Given the description of an element on the screen output the (x, y) to click on. 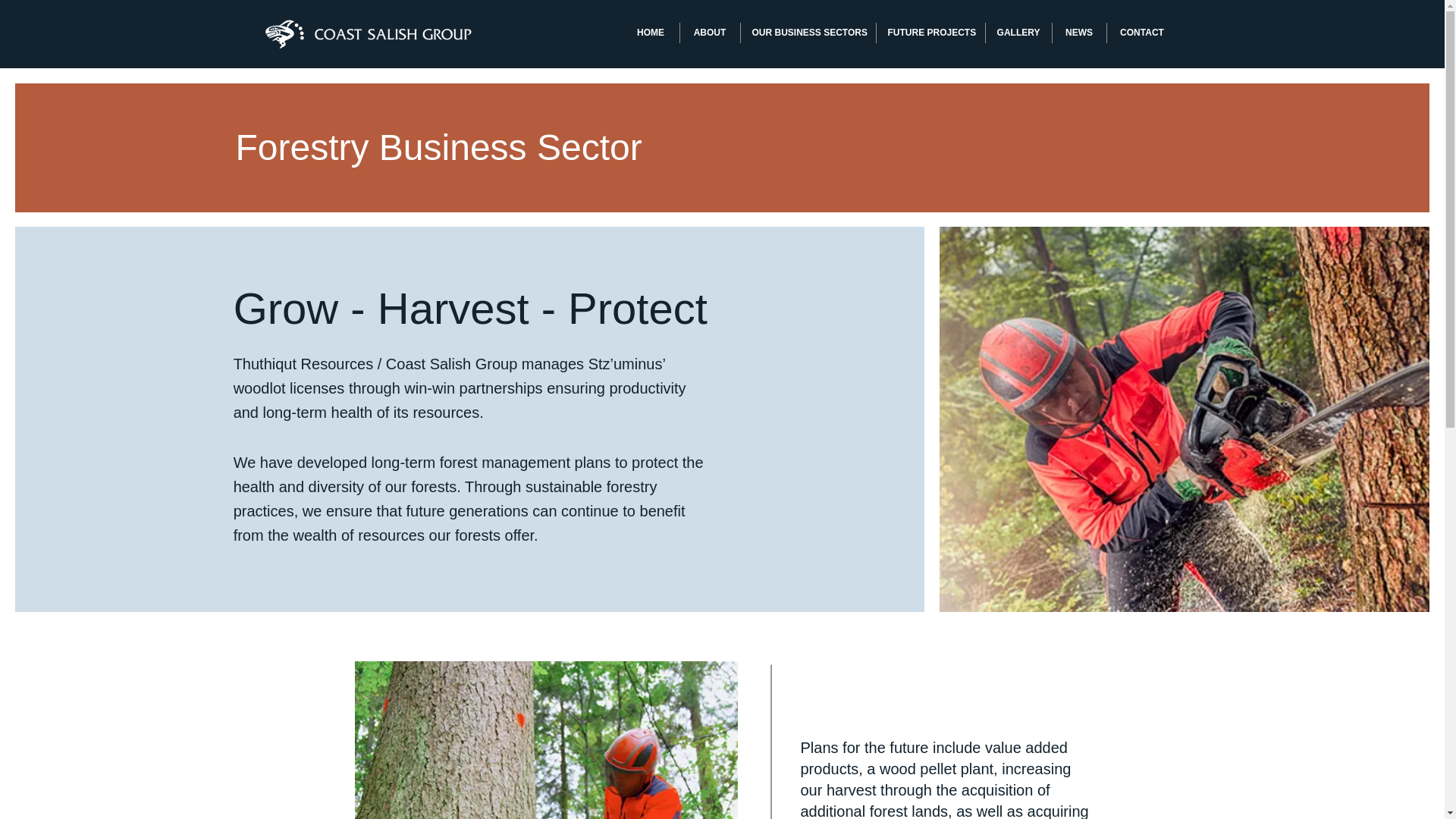
ABOUT (709, 32)
NEWS (1079, 32)
CONTACT (1141, 32)
HOME (649, 32)
GALLERY (1018, 32)
